Given the description of an element on the screen output the (x, y) to click on. 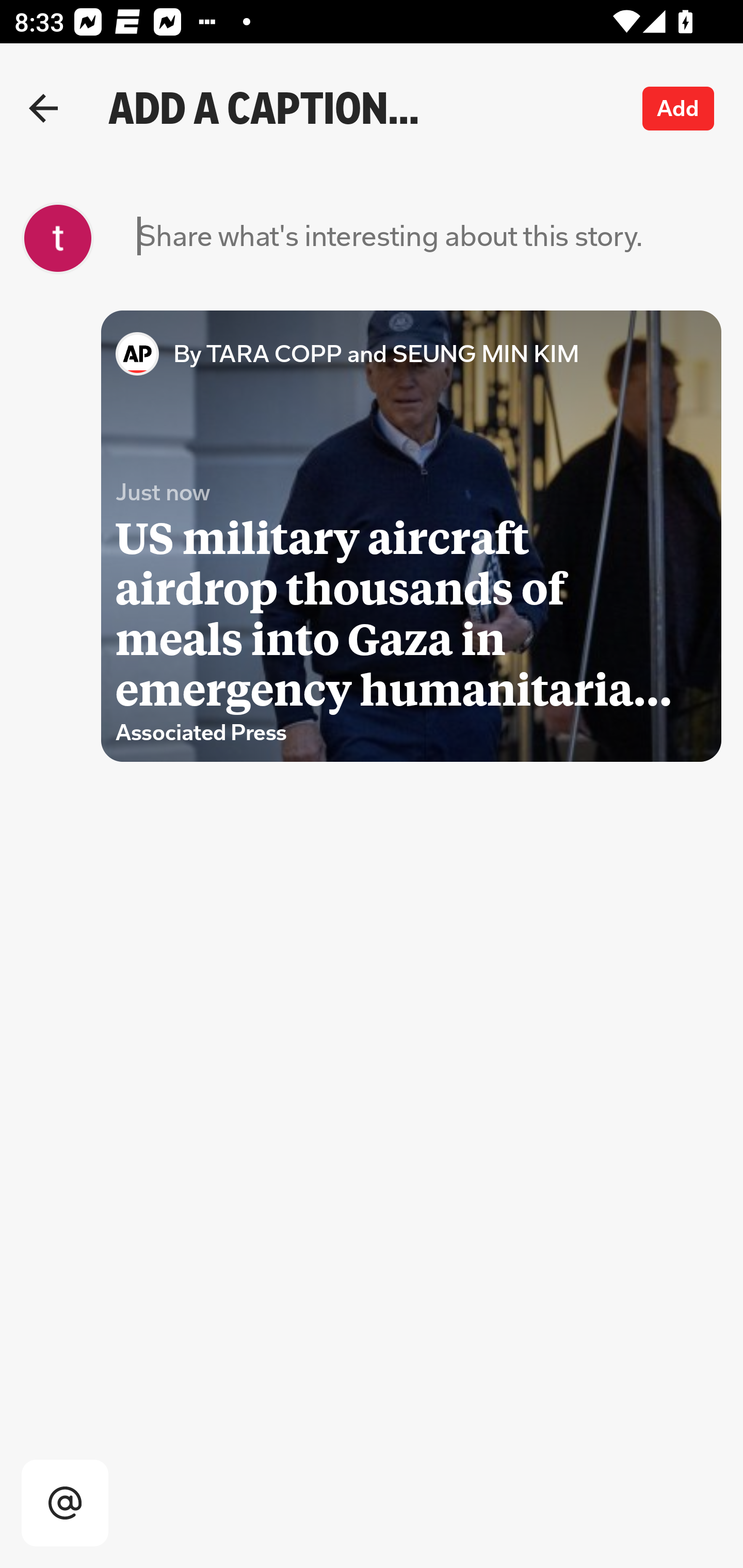
Add (678, 108)
Share what's interesting about this story. (390, 238)
